Given the description of an element on the screen output the (x, y) to click on. 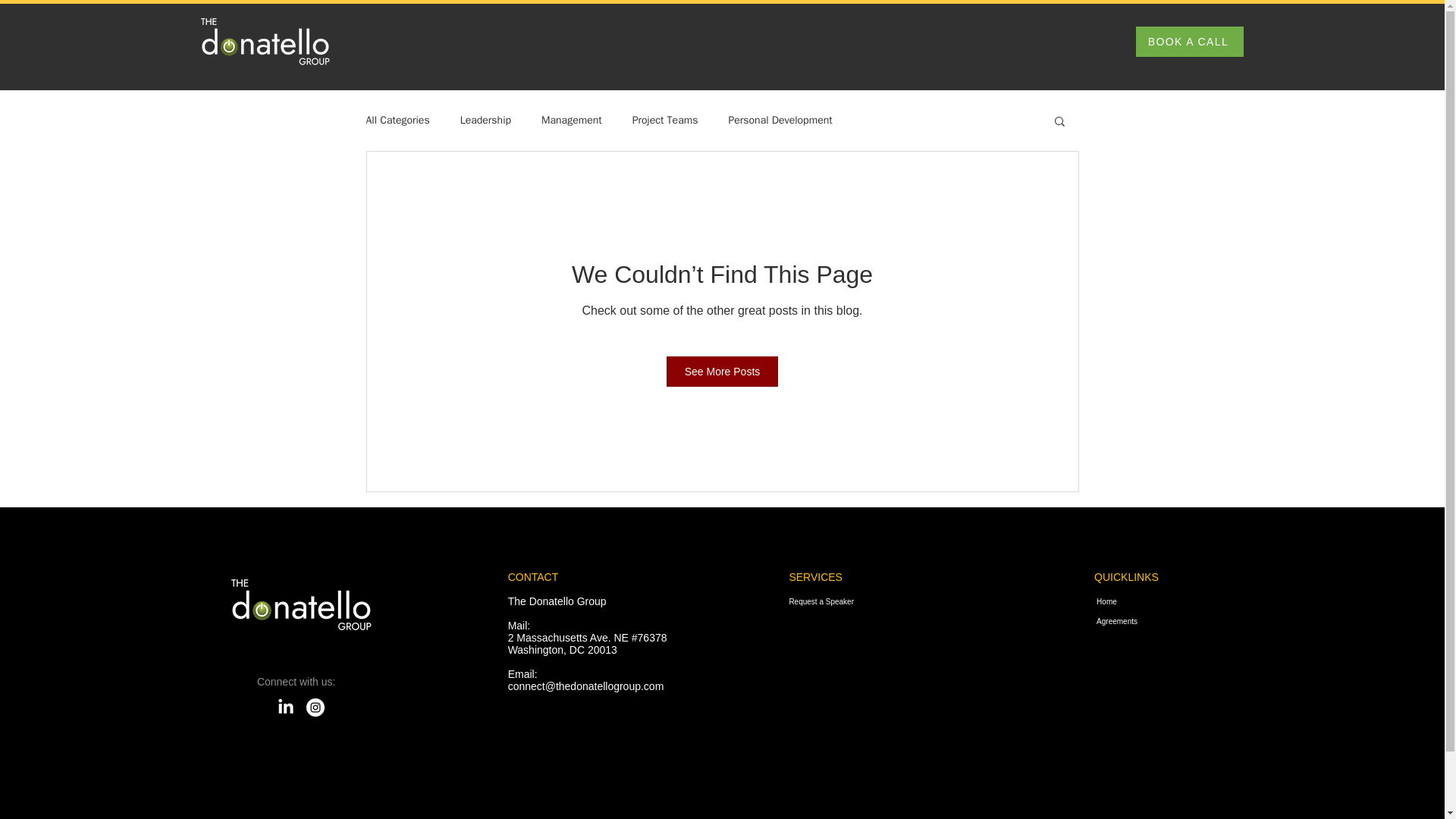
Agreements (1200, 621)
Home (1200, 601)
Project Teams (664, 120)
Personal Development (779, 120)
Management (571, 120)
BOOK A CALL (1189, 41)
All Categories (397, 120)
Request a Speaker (835, 601)
Leadership (485, 120)
See More Posts (722, 371)
